Given the description of an element on the screen output the (x, y) to click on. 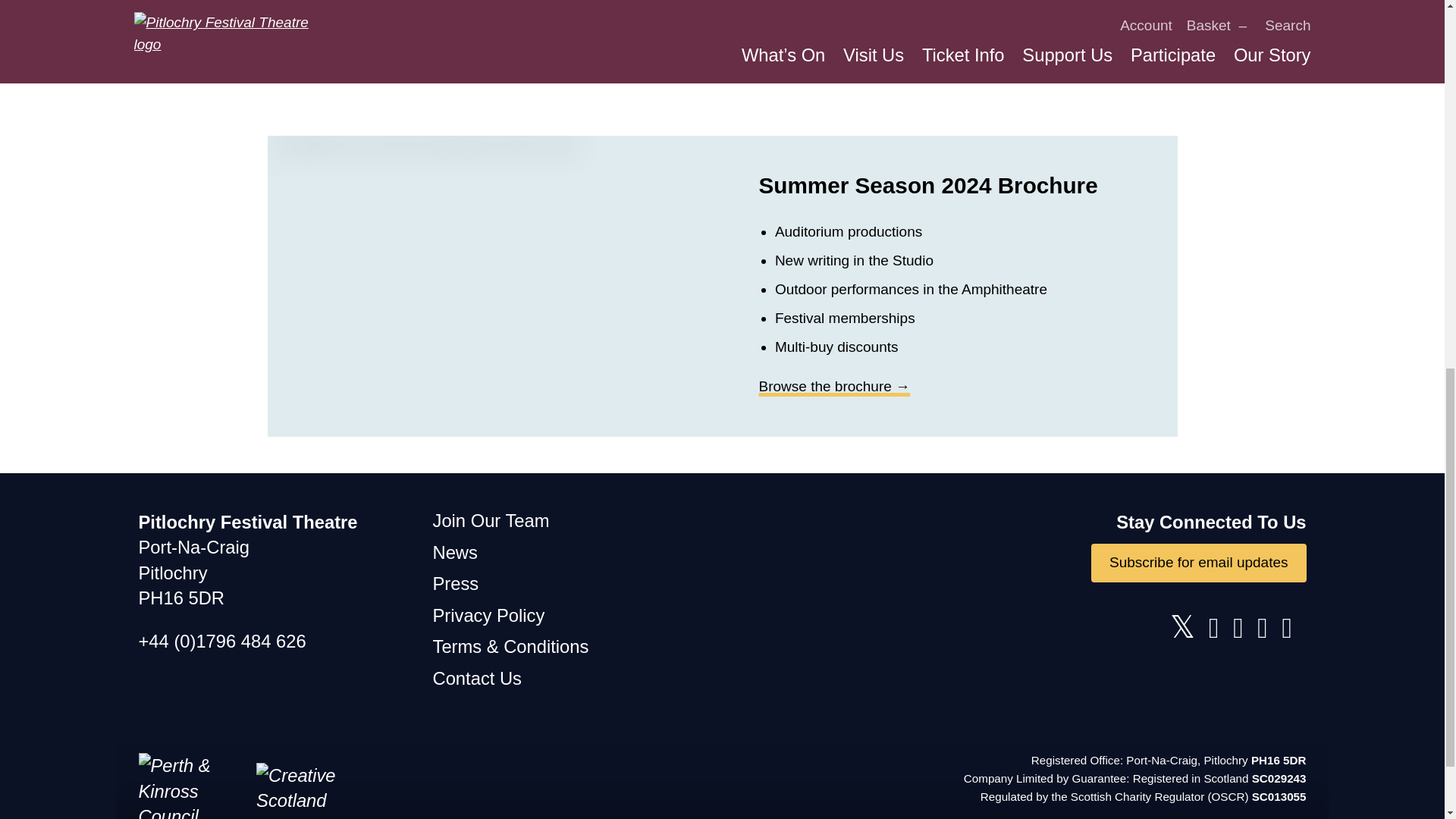
Join Our Team (490, 520)
Privacy Policy (488, 615)
Subscribe for email updates (1198, 562)
Press (455, 583)
Contact Us (476, 678)
News (454, 552)
